Given the description of an element on the screen output the (x, y) to click on. 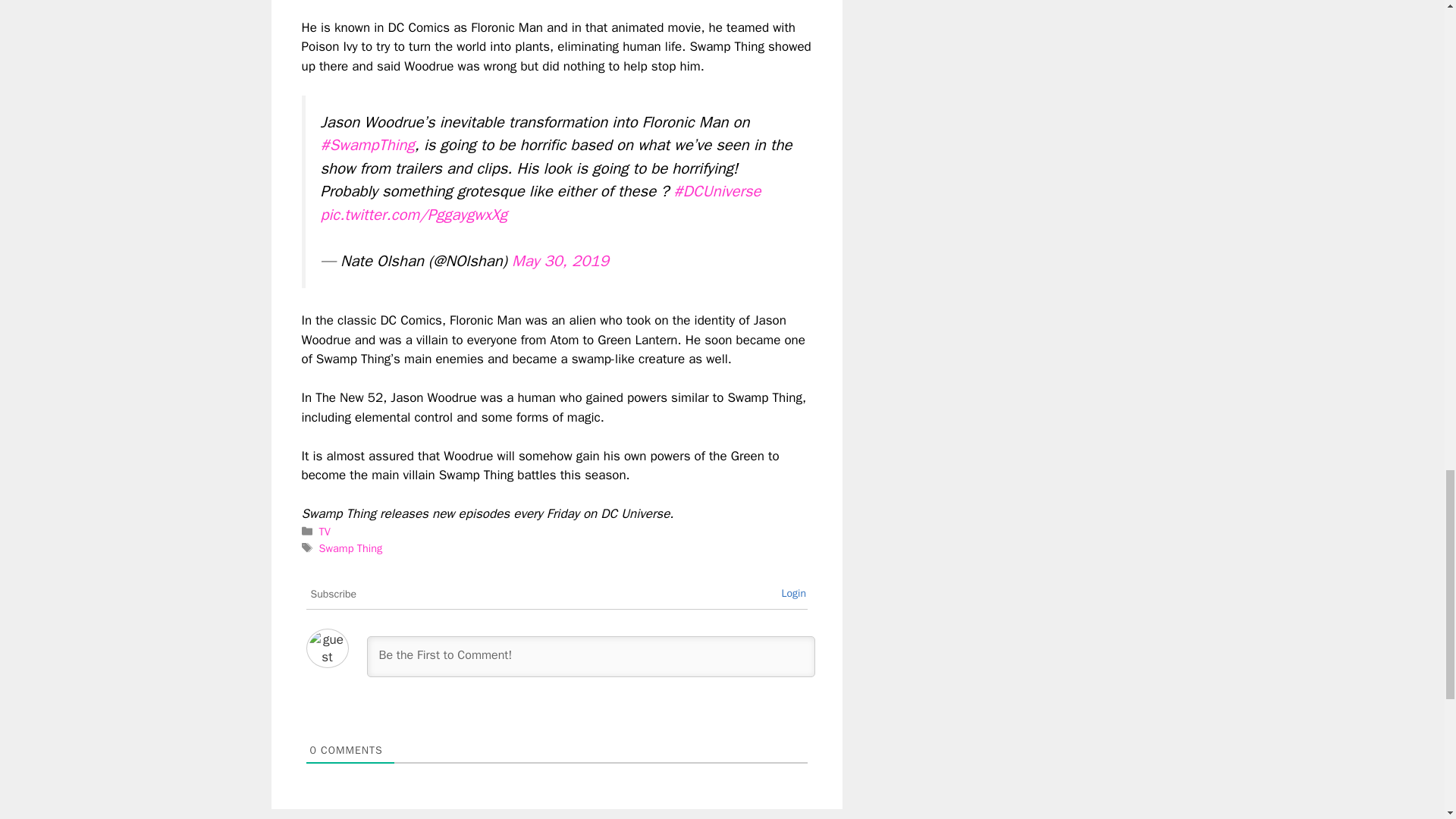
Login (793, 593)
Swamp Thing (350, 548)
May 30, 2019 (560, 260)
